Given the description of an element on the screen output the (x, y) to click on. 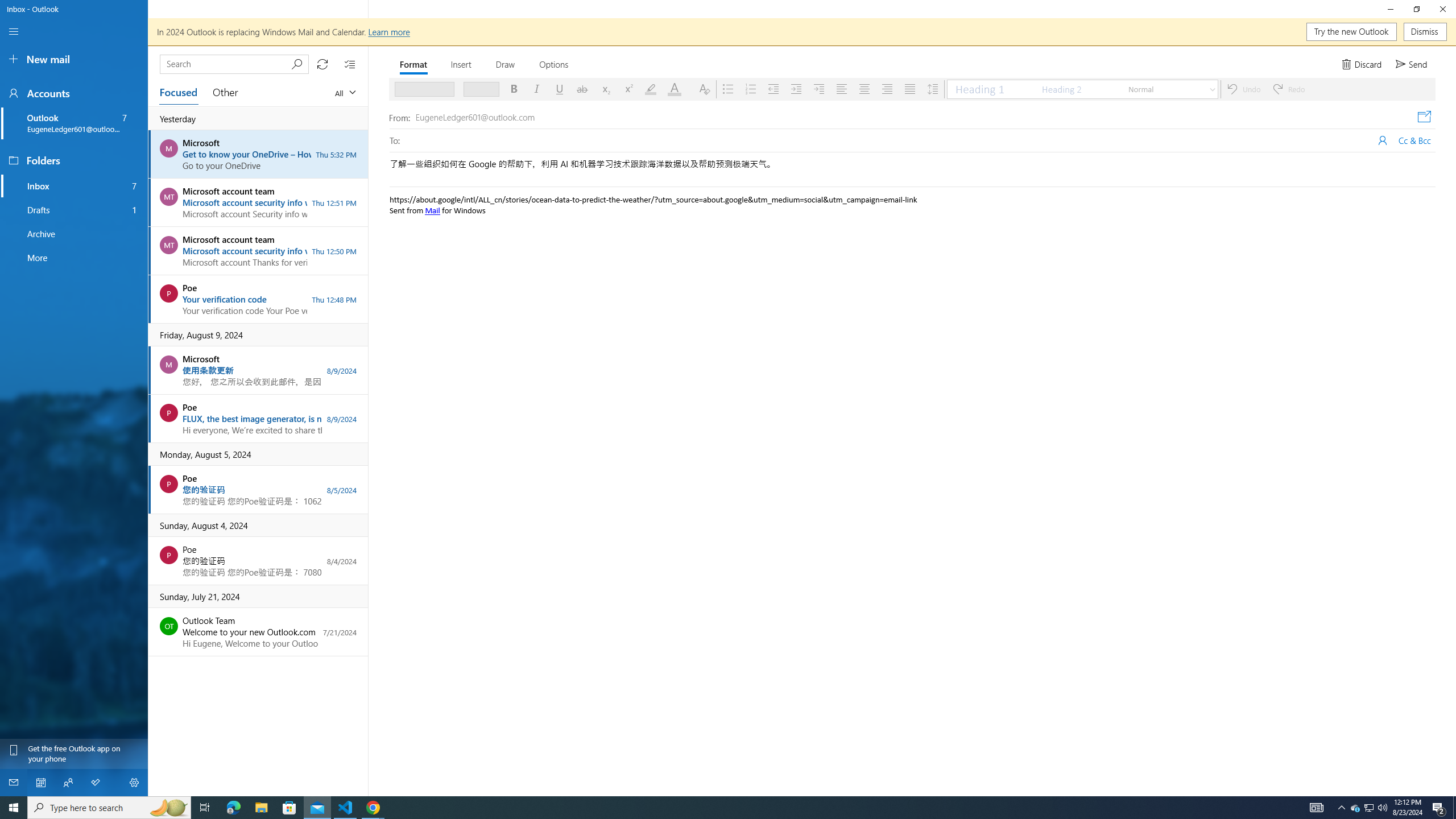
Switch to To Do (95, 782)
CcBcc (1414, 140)
Font Size (481, 88)
New mail (74, 58)
Line & Paragraph Spacing (932, 88)
Undo (1243, 88)
Insert (461, 63)
Justify (909, 88)
Choose contacts (1382, 140)
Underline (559, 88)
